Given the description of an element on the screen output the (x, y) to click on. 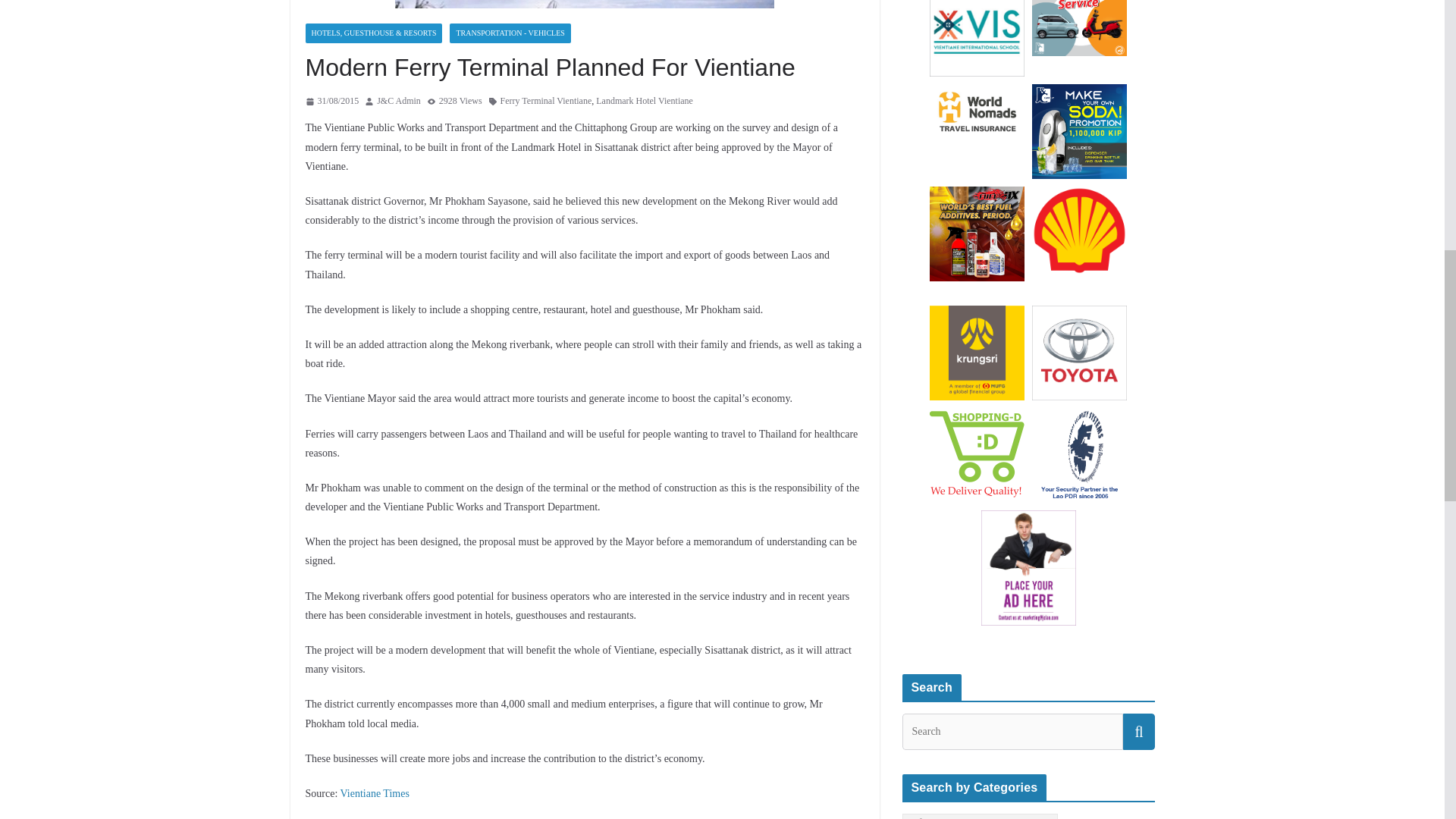
Landmark Hotel Vientiane (644, 101)
08:53 (331, 101)
TRANSPORTATION - VEHICLES (509, 33)
Vientiane Times (374, 793)
Ferry Terminal Vientiane (546, 101)
